Given the description of an element on the screen output the (x, y) to click on. 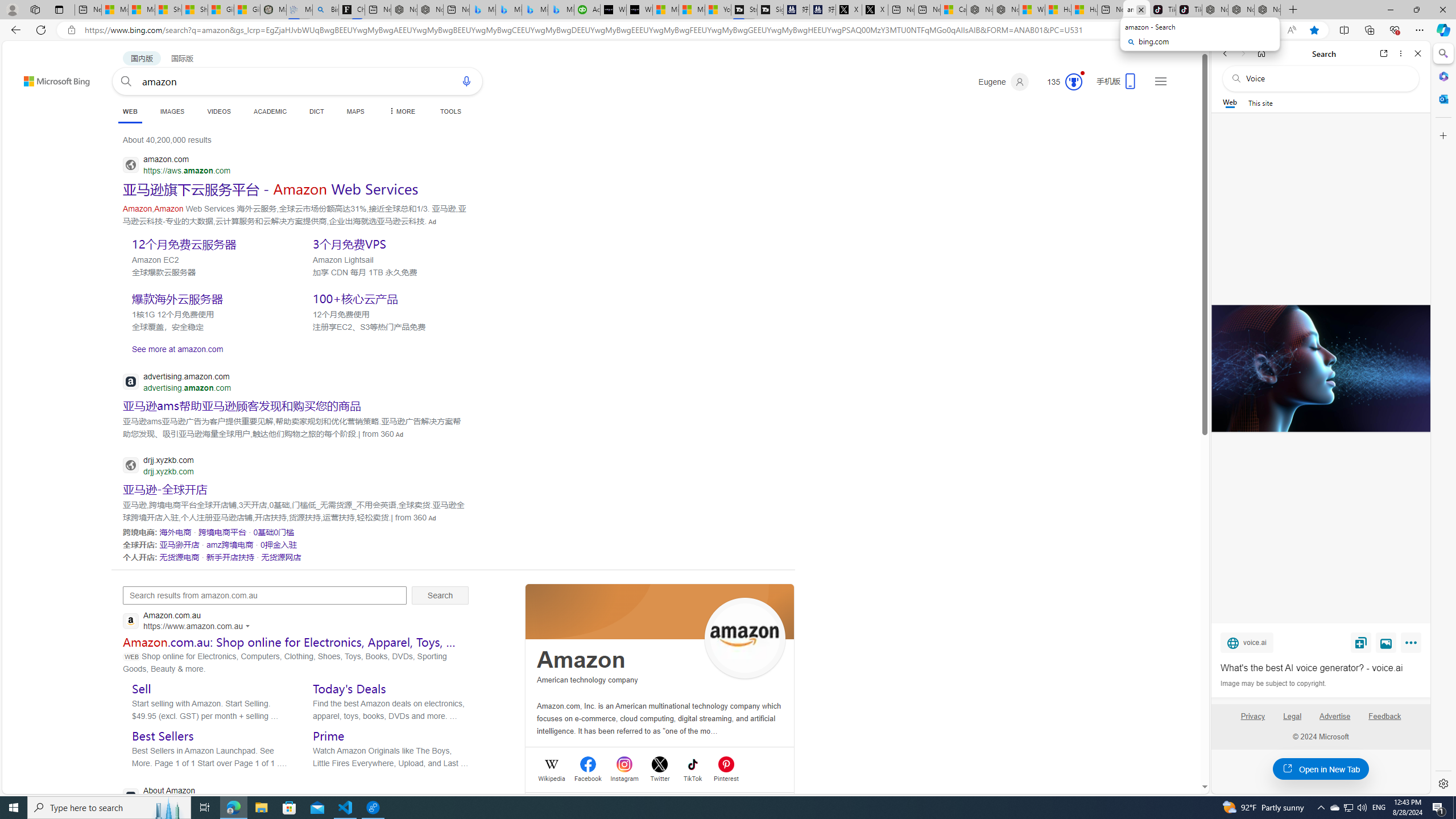
DICT (316, 111)
Amazon.com.au (189, 621)
Open in New Tab (1321, 768)
Amazon (581, 659)
MAPS (355, 111)
ACADEMIC (269, 111)
Global web icon (130, 795)
SERP,5564 (165, 488)
Open link in new tab (1383, 53)
SERP,5573 (230, 556)
Actions for this site (249, 625)
